Given the description of an element on the screen output the (x, y) to click on. 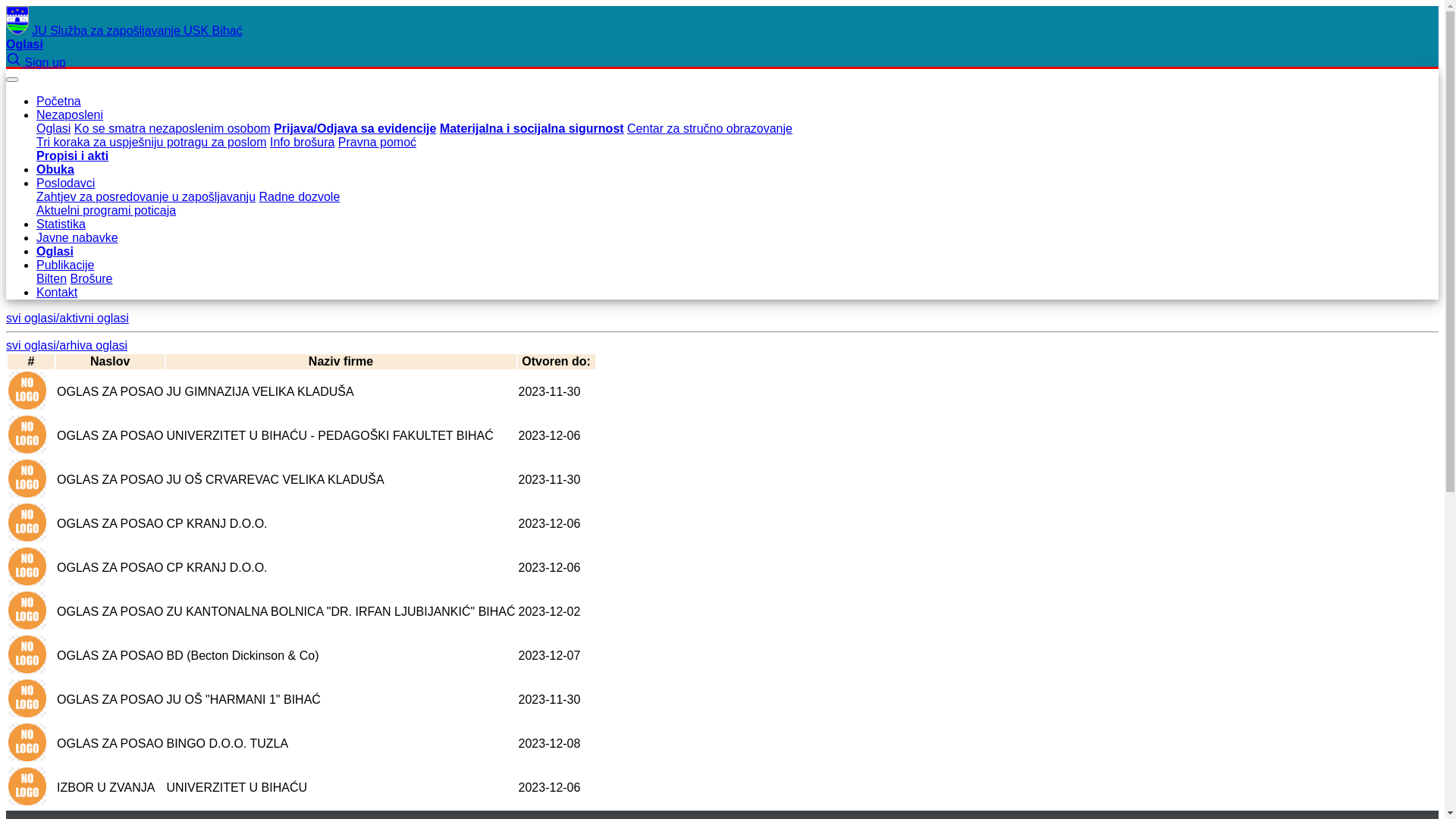
Propisi i akti Element type: text (72, 155)
Materijalna i socijalna sigurnost Element type: text (531, 128)
Oglasi Element type: text (53, 128)
Kontakt Element type: text (56, 291)
Sign up Element type: text (44, 62)
Nezaposleni Element type: text (69, 114)
Radne dozvole Element type: text (299, 196)
Oglasi Element type: text (54, 250)
Publikacije Element type: text (65, 264)
Search Element type: text (15, 62)
Obuka Element type: text (55, 169)
Ko se smatra nezaposlenim osobom Element type: text (172, 128)
Aktuelni programi poticaja Element type: text (105, 209)
Javne nabavke Element type: text (77, 237)
svi oglasi/arhiva oglasi Element type: text (66, 344)
Oglasi Element type: text (24, 43)
svi oglasi/aktivni oglasi Element type: text (67, 317)
OGLAS ZA POSAO CP KRANJ D.O.O. 2023-12-06 Element type: text (301, 523)
OGLAS ZA POSAO BINGO D.O.O. TUZLA 2023-12-08 Element type: text (301, 743)
Poslodavci Element type: text (65, 182)
Statistika Element type: text (60, 223)
OGLAS ZA POSAO CP KRANJ D.O.O. 2023-12-06 Element type: text (301, 567)
Prijava/Odjava sa evidencije Element type: text (354, 128)
OGLAS ZA POSAO BD (Becton Dickinson & Co) 2023-12-07 Element type: text (301, 655)
Bilten Element type: text (51, 278)
